Given the description of an element on the screen output the (x, y) to click on. 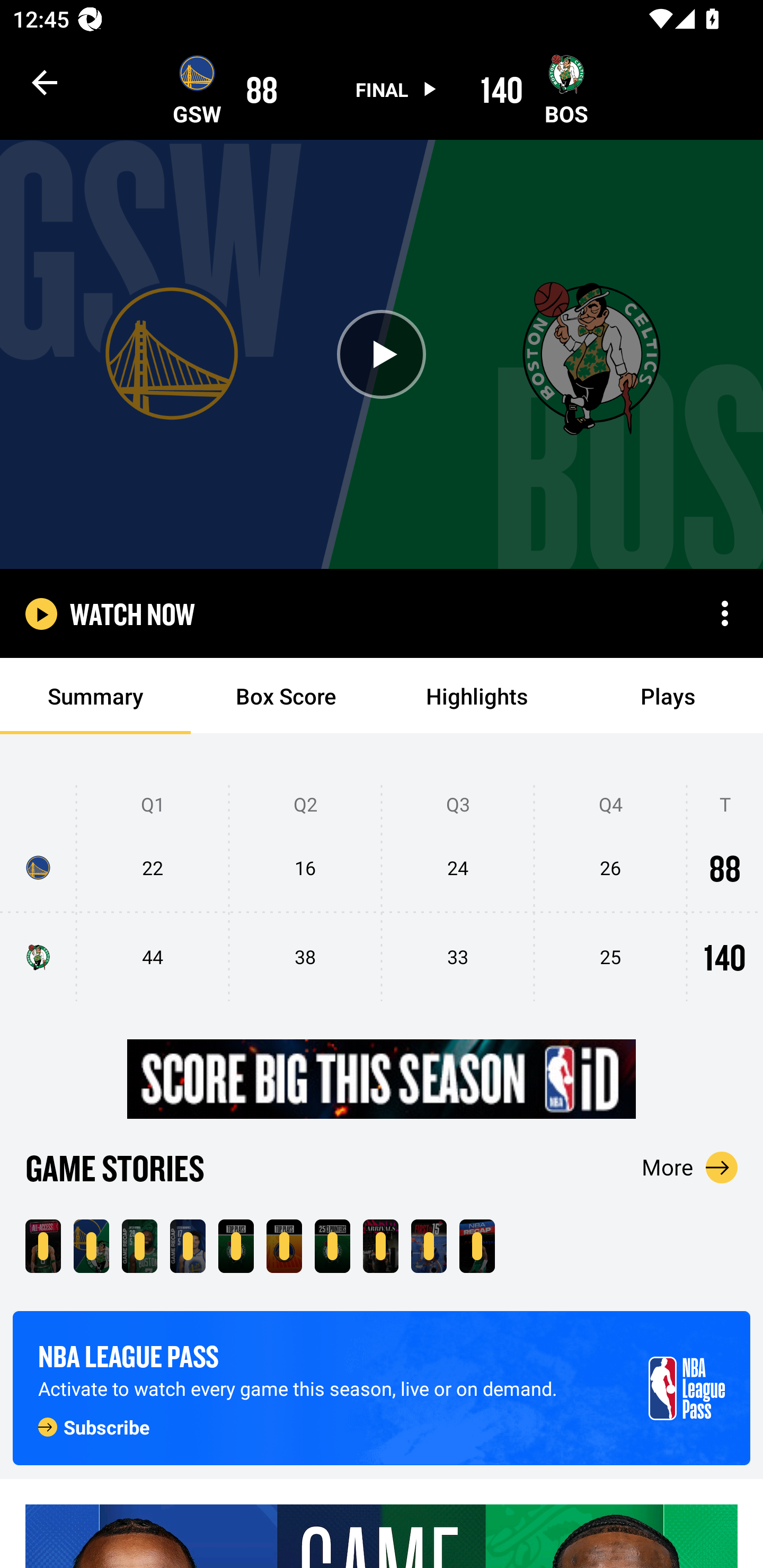
Navigate up (44, 82)
More options (724, 613)
WATCH NOW (132, 613)
Box Score (285, 695)
Highlights (476, 695)
Plays (667, 695)
Q1 Q2 Q3 Q4 T 22 16 24 26 88 44 38 33 25 140 (381, 893)
More (689, 1166)
Warriors And Celtics Clash At TD Garden 🍀 NEW (43, 1246)
BOS 140, GSW 88 - Mar 3 NEW (91, 1246)
Highlights From Jaylen Brown's 29-Point Game NEW (139, 1246)
Highlights From Lester Quinones' 17-Point Game NEW (187, 1246)
BOS' Top Plays from GSW vs. BOS NEW (236, 1246)
GSW's Top Plays from GSW vs. BOS NEW (284, 1246)
All 3-pointers from BOS' 25 3-pointer Night NEW (332, 1246)
Steppin' Into Sunday 🔥 NEW (380, 1246)
First To 15, Mar. 3rd NEW (428, 1246)
Sunday's Recap NEW (477, 1246)
